Given the description of an element on the screen output the (x, y) to click on. 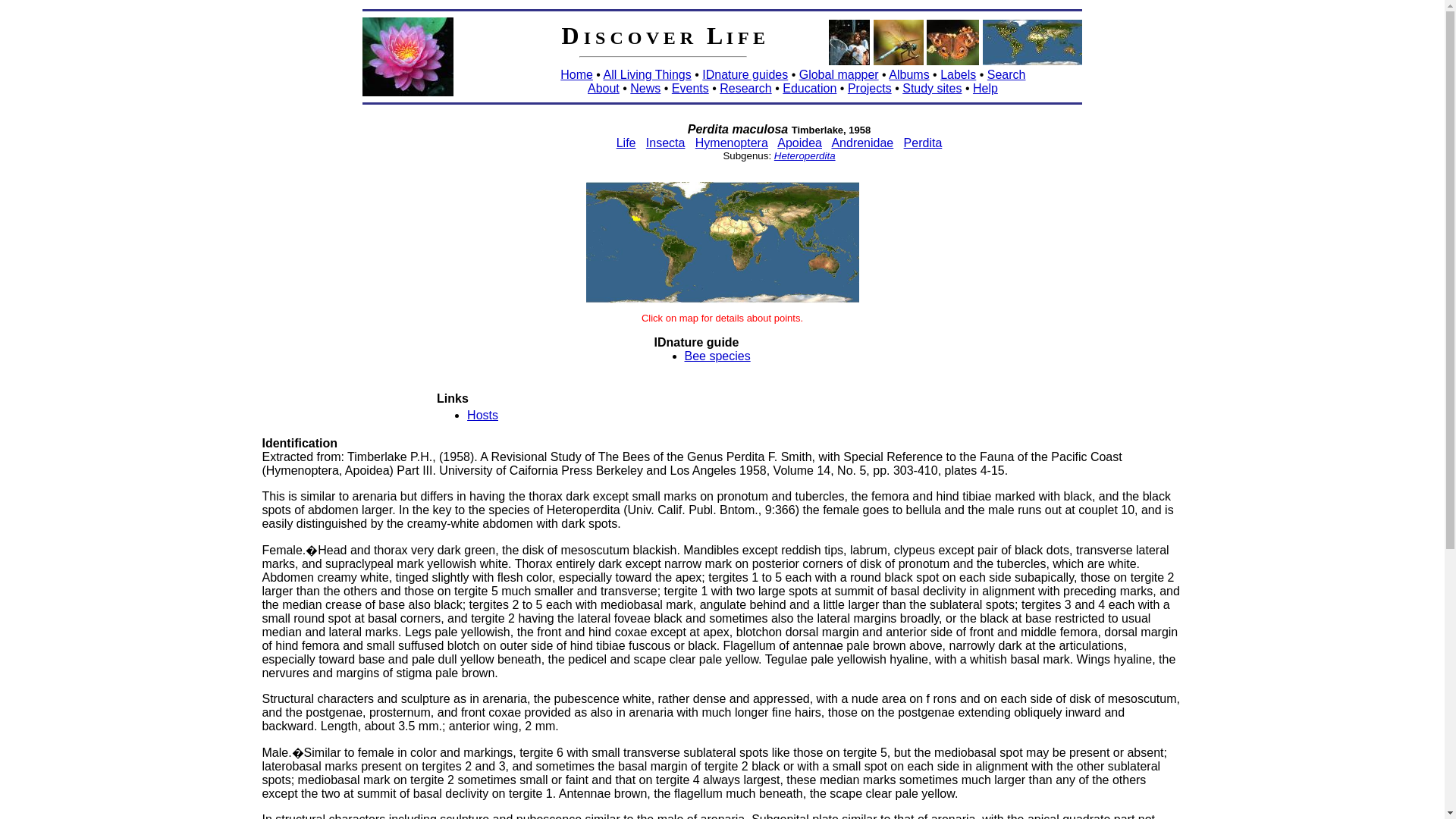
Identification (299, 442)
Apoidea (799, 142)
Education (809, 88)
All Living Things (647, 74)
Insecta (665, 142)
About (604, 88)
Bee Hunt! (848, 42)
News (645, 88)
Home (576, 74)
IDnature guides (744, 74)
Projects (869, 88)
Research (745, 88)
Albums (908, 74)
Perdita (923, 142)
Global mapper (839, 74)
